Given the description of an element on the screen output the (x, y) to click on. 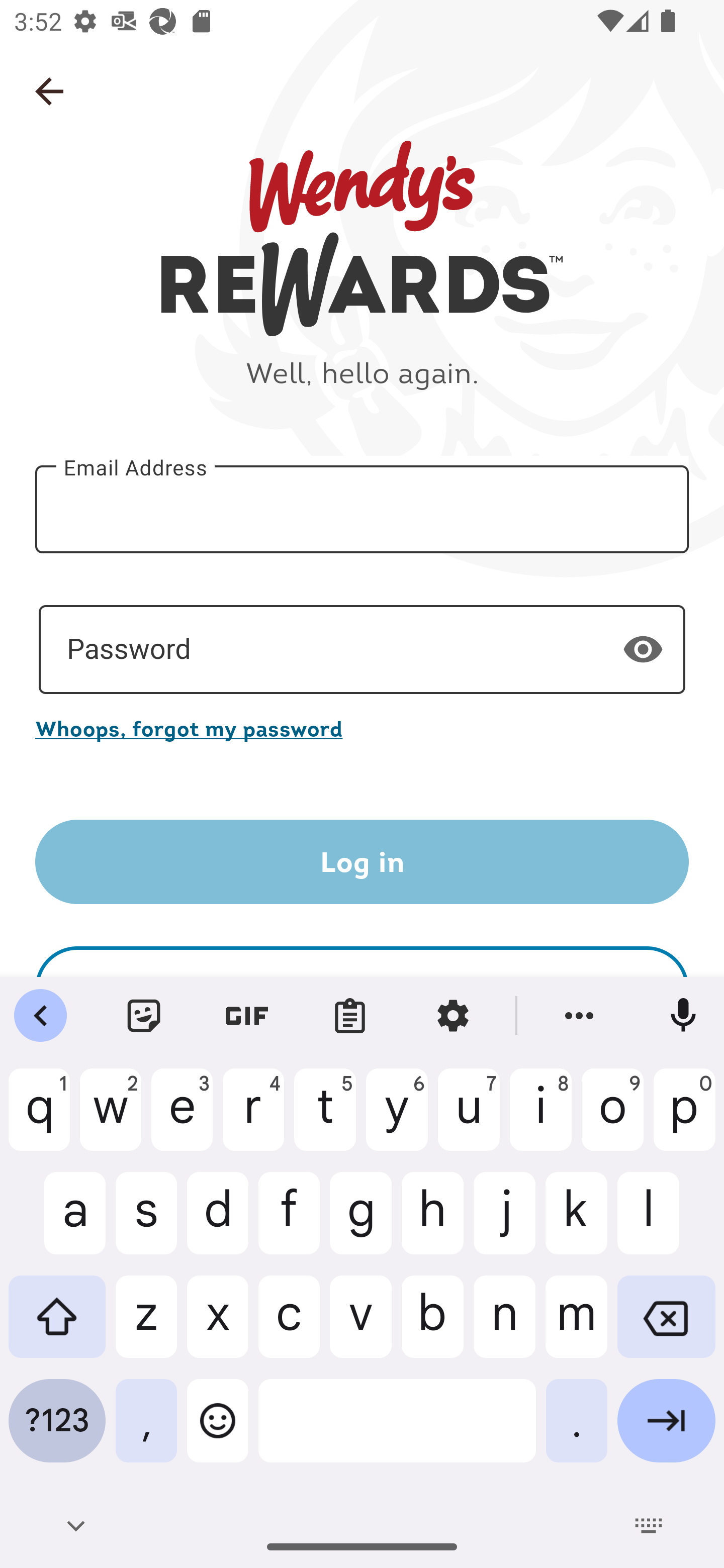
Navigate up (49, 91)
Email Address (361, 509)
Password (361, 649)
Show password (642, 648)
Whoops, forgot my password (361, 728)
Log in (361, 862)
